Given the description of an element on the screen output the (x, y) to click on. 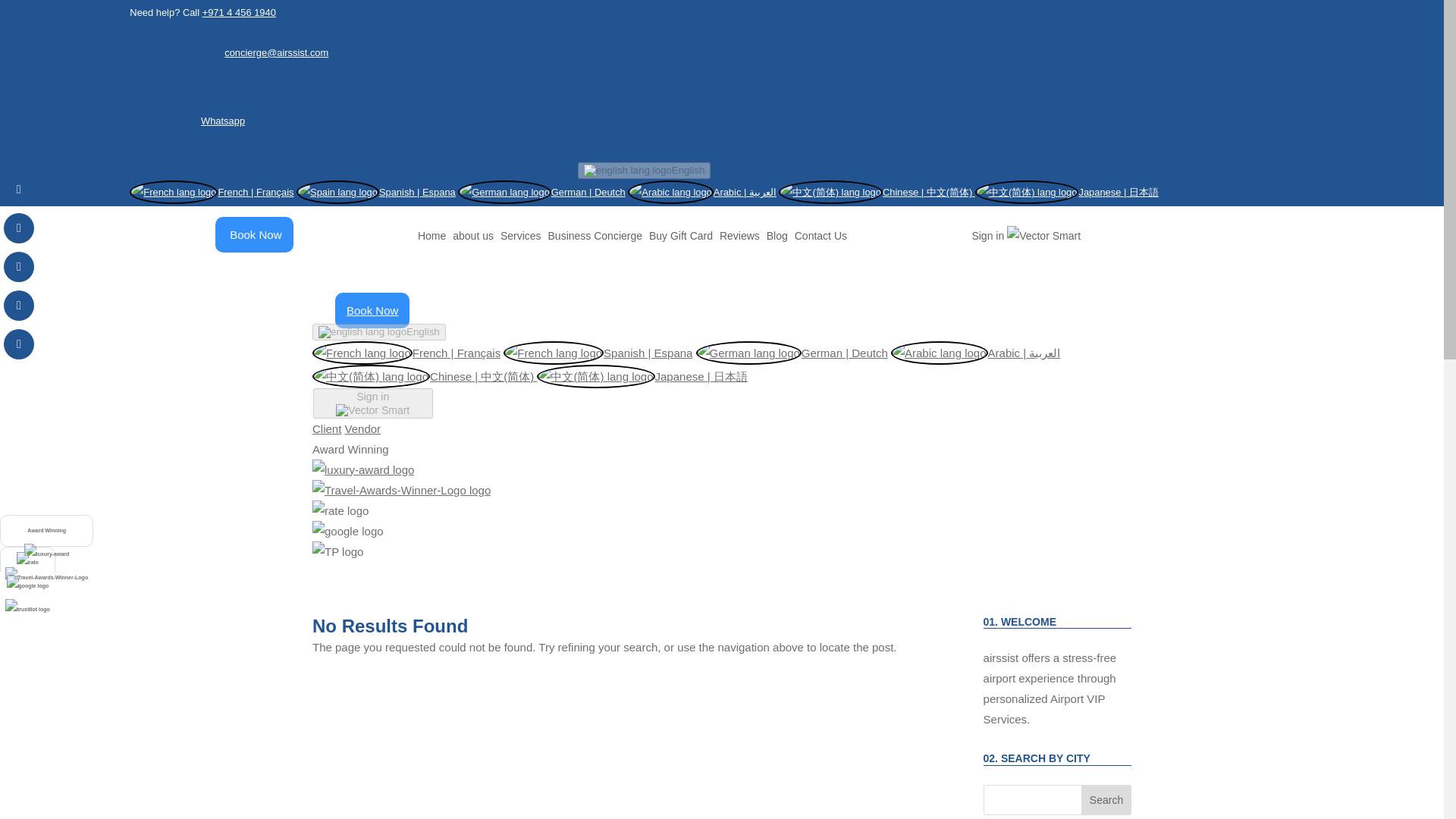
Book Now (371, 309)
Search (1106, 799)
Book Now (255, 234)
Buy Gift Card (681, 235)
about us (472, 235)
English (379, 331)
Home (431, 235)
Services (520, 235)
Blog (777, 235)
Business Concierge (595, 235)
Whatsapp (222, 120)
English (644, 170)
Reviews (739, 235)
Contact Us (820, 235)
